Given the description of an element on the screen output the (x, y) to click on. 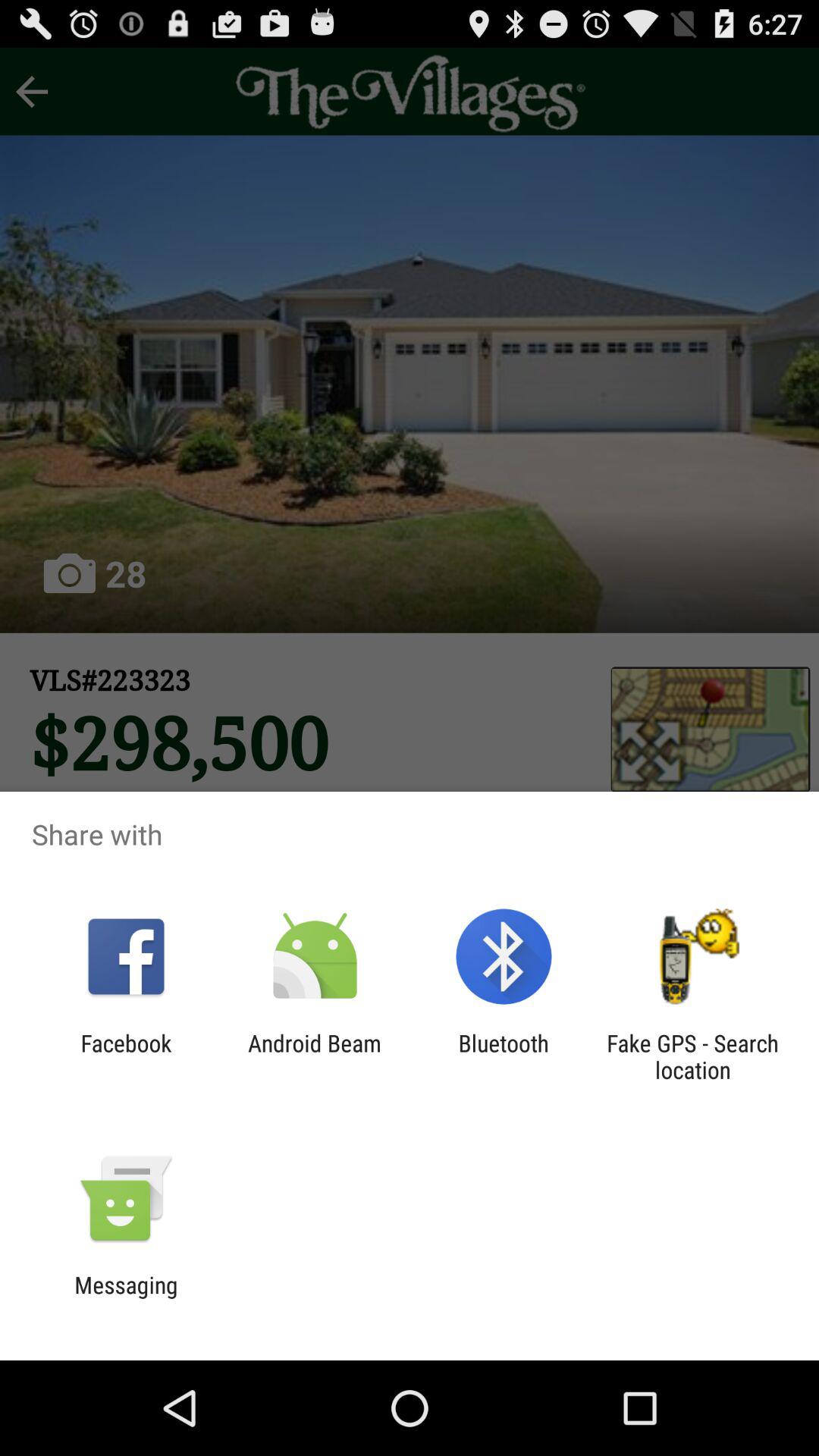
tap bluetooth app (503, 1056)
